Given the description of an element on the screen output the (x, y) to click on. 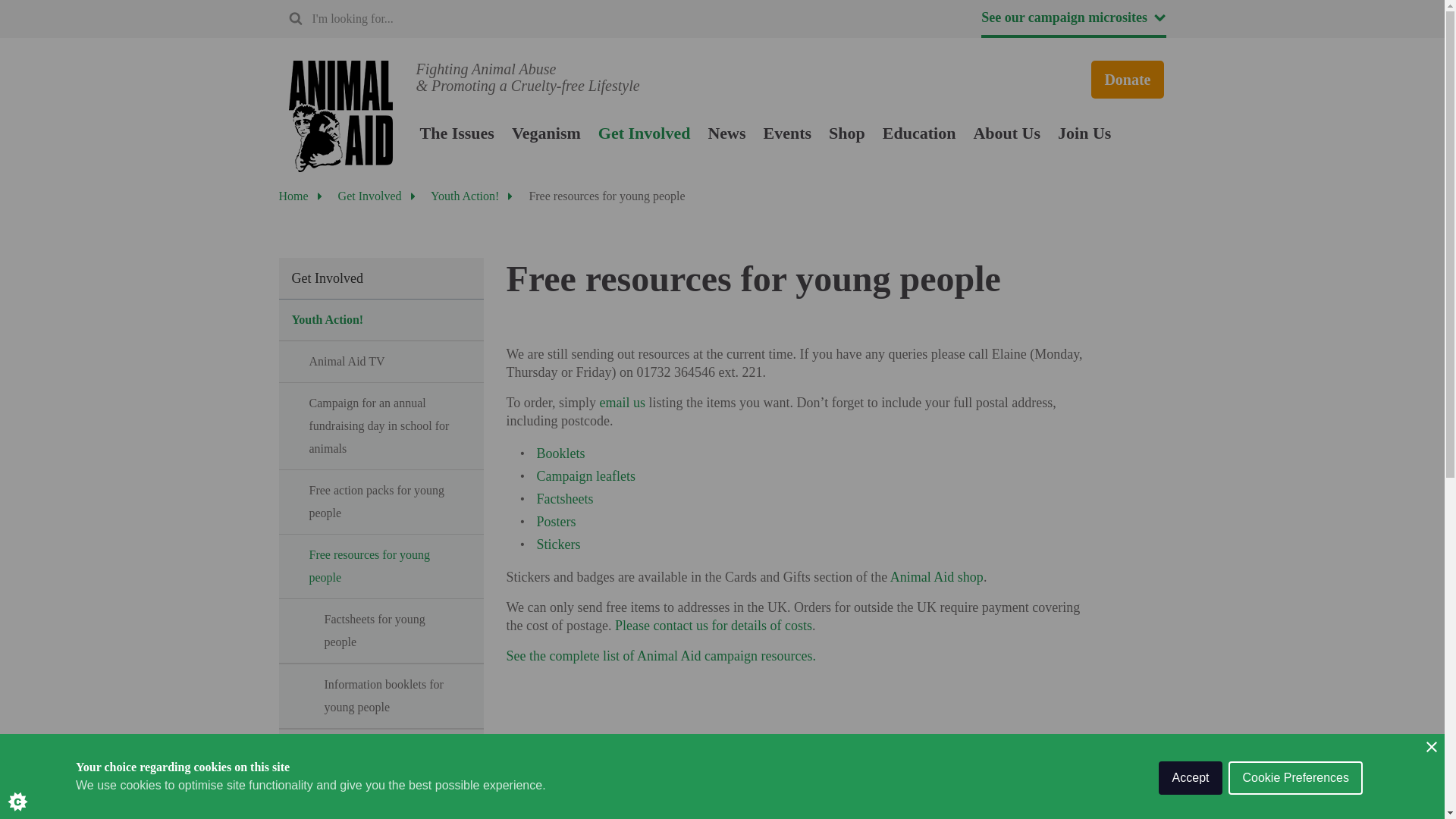
Get Involved (644, 133)
Education (919, 133)
Veganism (545, 133)
Shop (846, 133)
Donate (1126, 79)
News (726, 133)
Cookie Preferences (1295, 805)
Events (787, 133)
The Issues (457, 133)
What are you looking for? (396, 18)
